Given the description of an element on the screen output the (x, y) to click on. 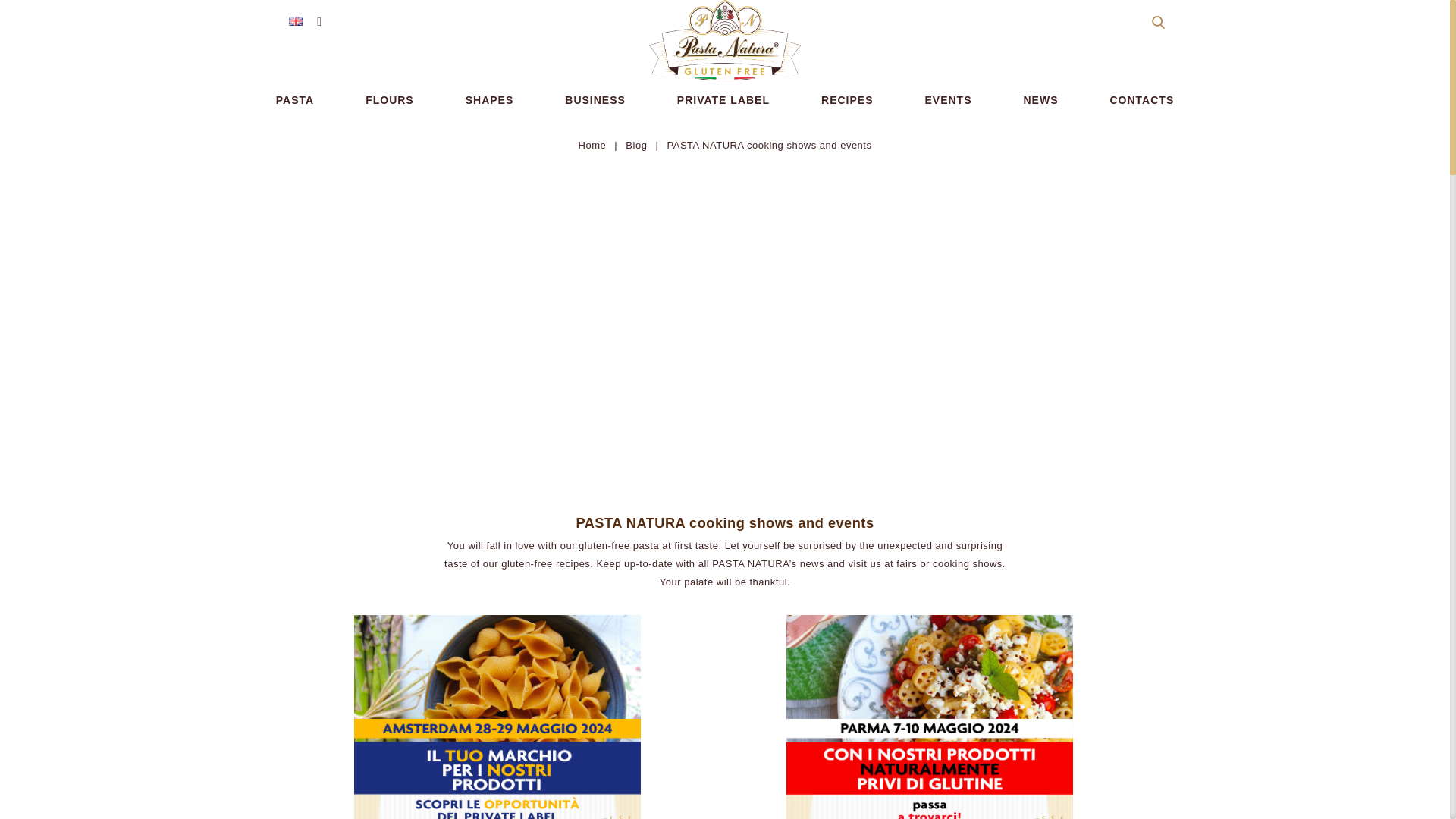
SHAPES (489, 99)
PASTA (295, 99)
English (295, 20)
FLOURS (389, 99)
